Given the description of an element on the screen output the (x, y) to click on. 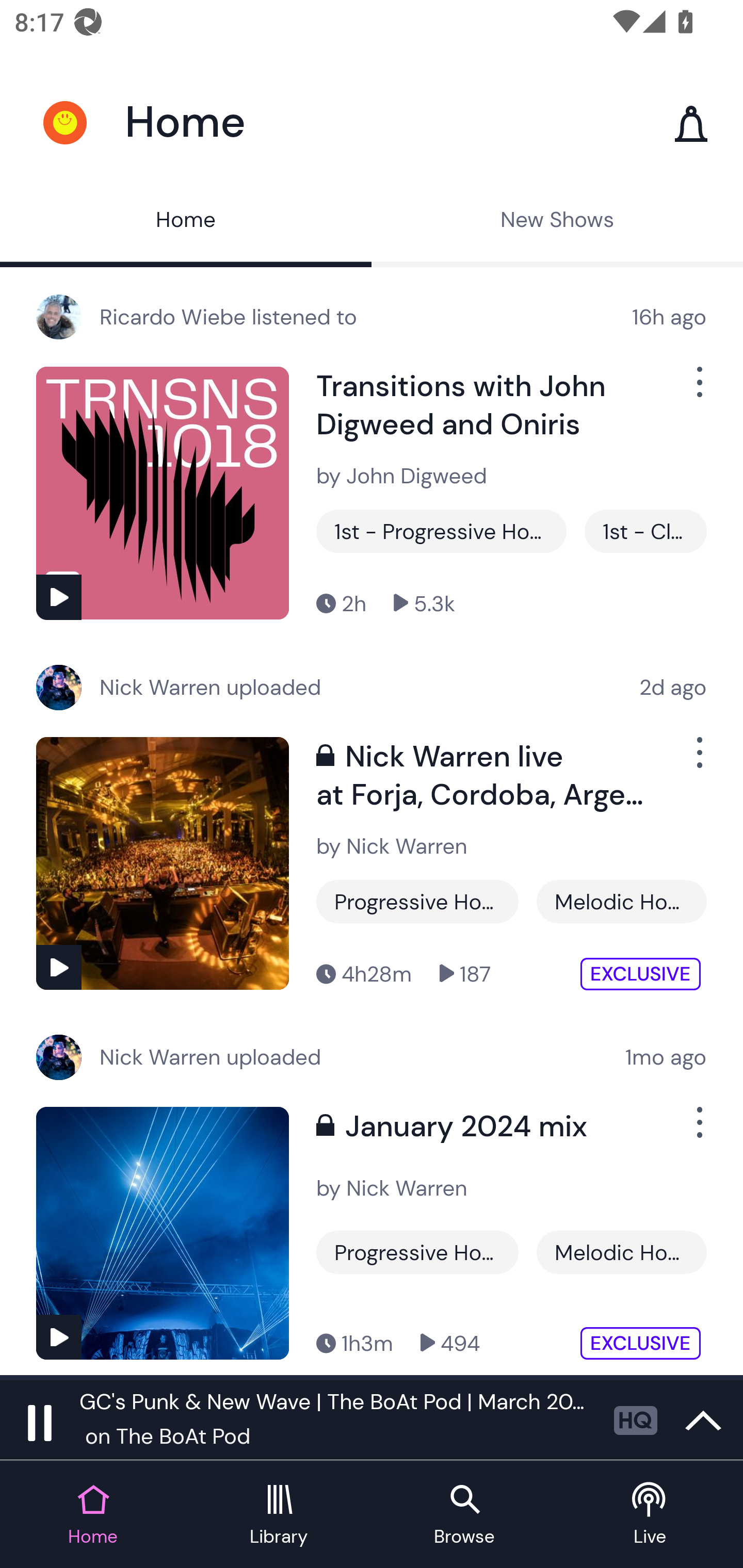
Home (185, 221)
New Shows (557, 221)
Show Options Menu Button (697, 389)
1st - Progressive House (441, 531)
1st - Club (645, 531)
Show Options Menu Button (697, 760)
Progressive House (417, 901)
Melodic House (621, 901)
Show Options Menu Button (697, 1130)
Progressive House (417, 1251)
Melodic House (621, 1251)
Home tab Home (92, 1515)
Library tab Library (278, 1515)
Browse tab Browse (464, 1515)
Live tab Live (650, 1515)
